Given the description of an element on the screen output the (x, y) to click on. 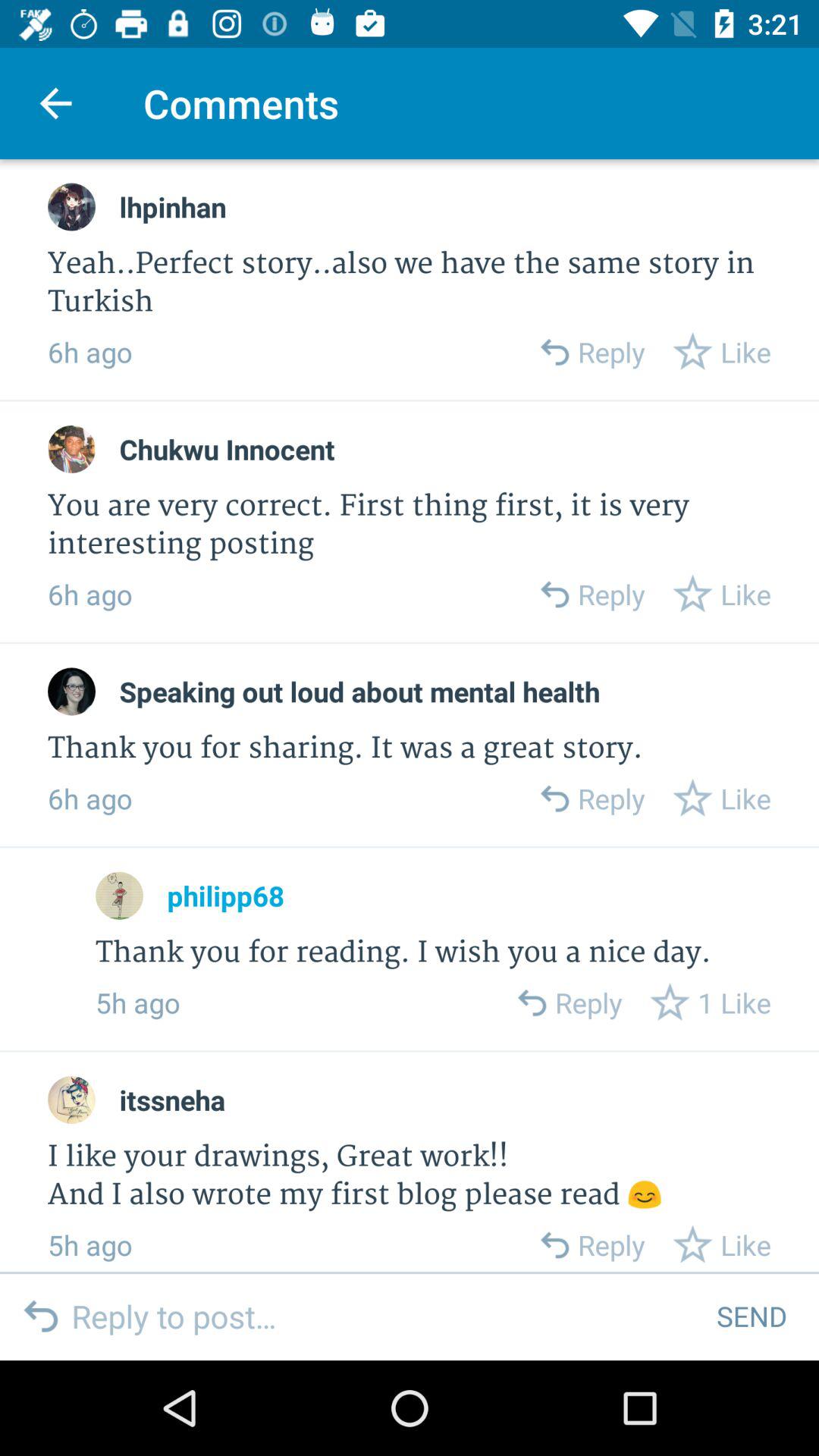
reply (553, 1244)
